Given the description of an element on the screen output the (x, y) to click on. 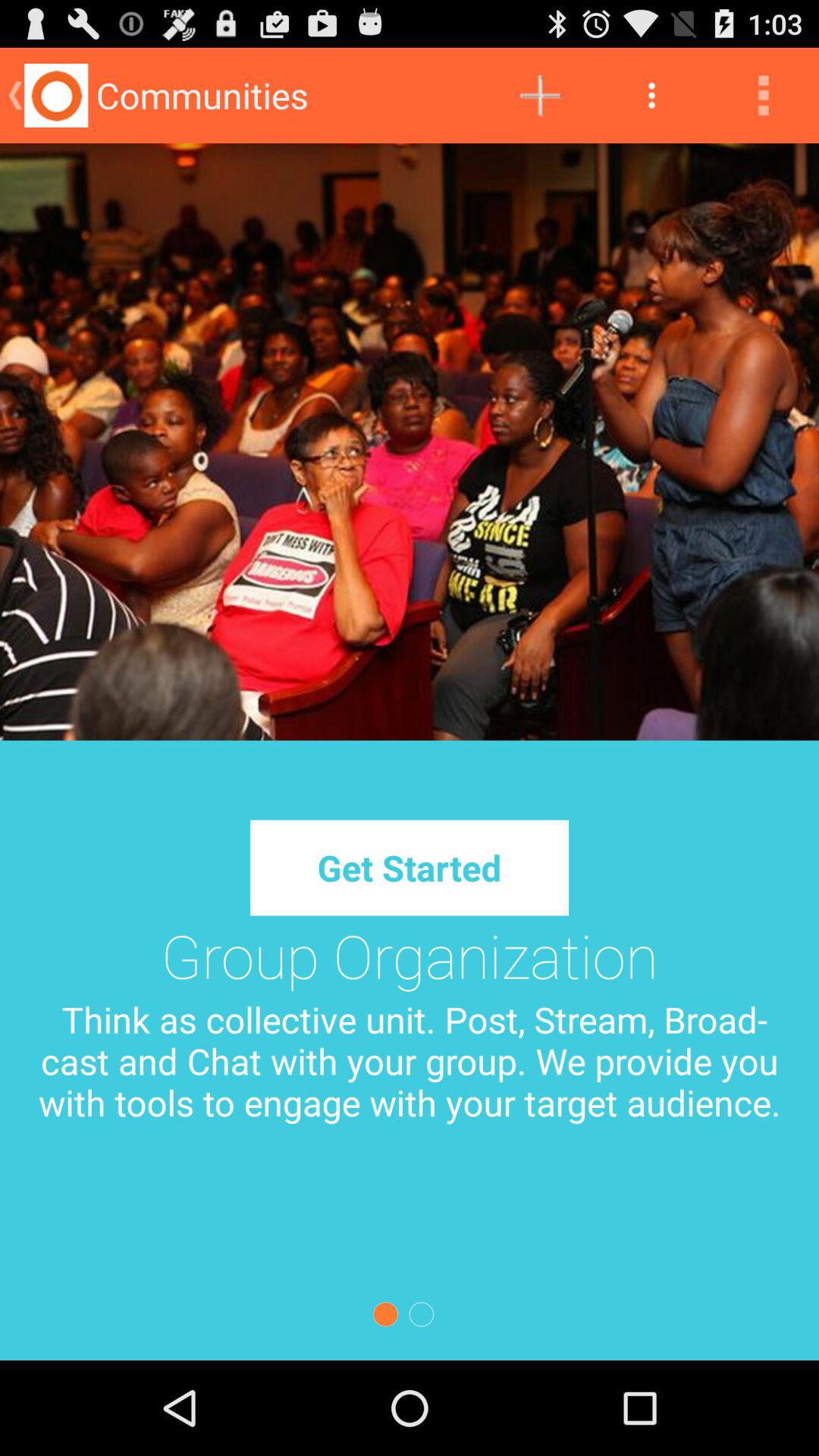
select item above the group organization (409, 867)
